Given the description of an element on the screen output the (x, y) to click on. 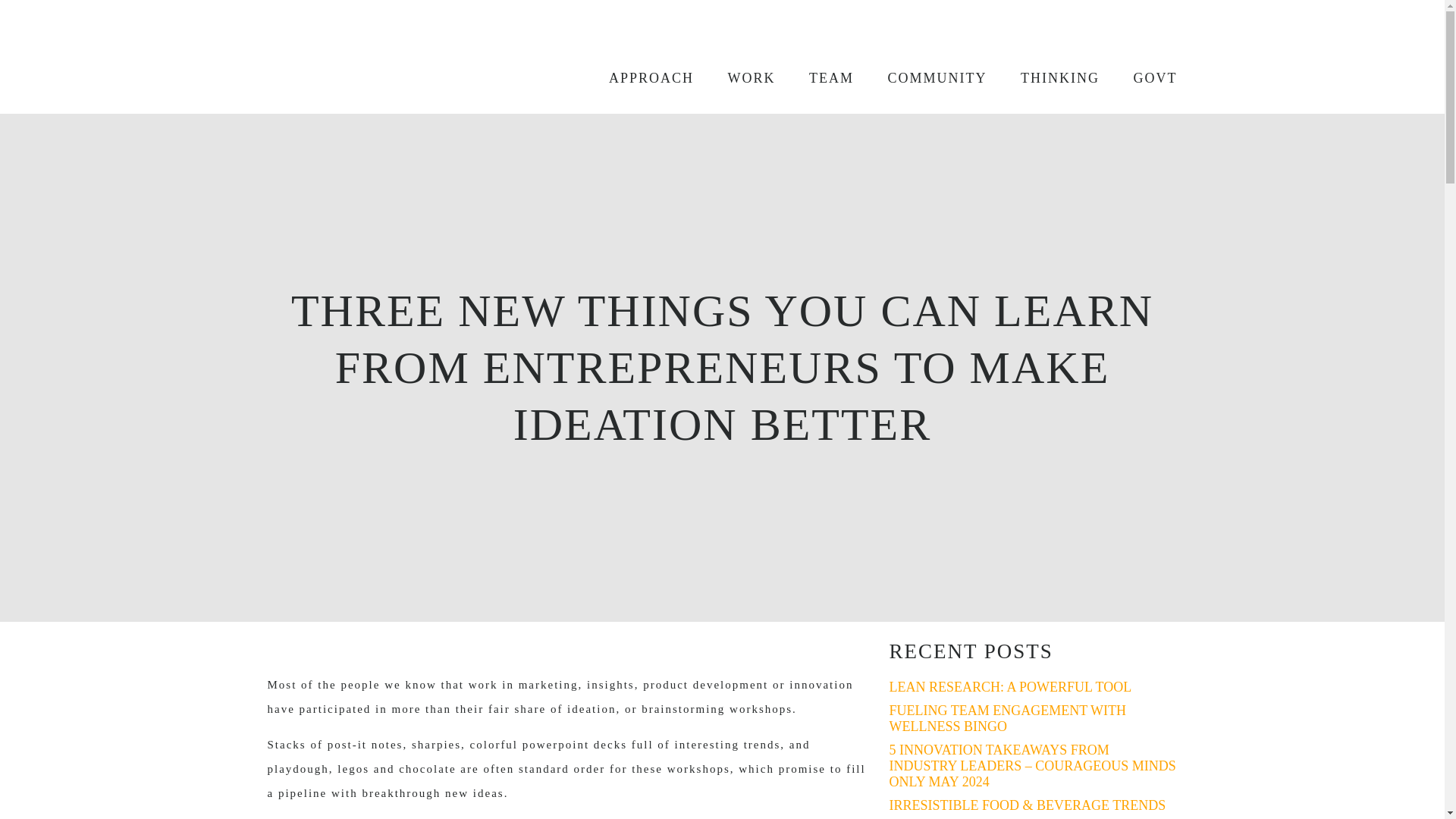
COMMUNITY (928, 77)
APPROACH (641, 77)
THINKING (1050, 77)
WORK (740, 77)
GOVT (1146, 77)
FUELING TEAM ENGAGEMENT WITH WELLNESS BINGO (1006, 717)
TEAM (821, 77)
LEAN RESEARCH: A POWERFUL TOOL (1009, 686)
